Given the description of an element on the screen output the (x, y) to click on. 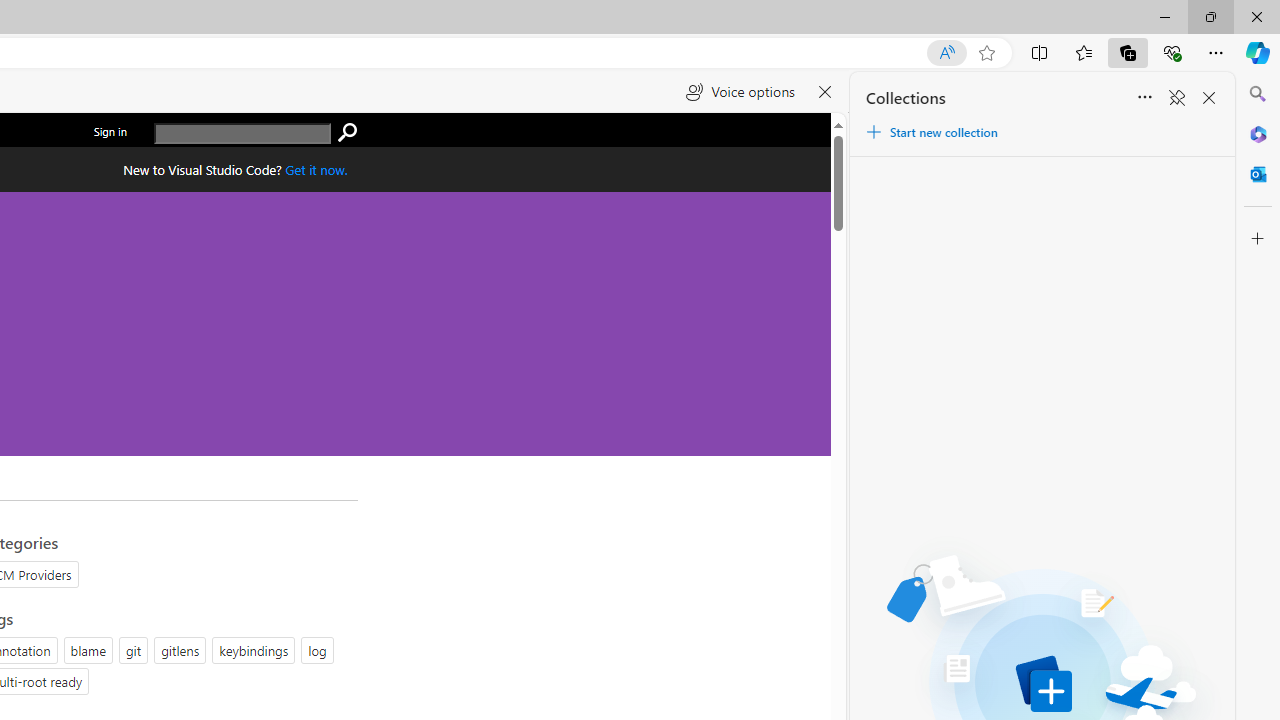
Close read aloud (825, 92)
Unpin Collections (1176, 98)
Voice options (740, 92)
Sort (1144, 98)
search (242, 133)
